Given the description of an element on the screen output the (x, y) to click on. 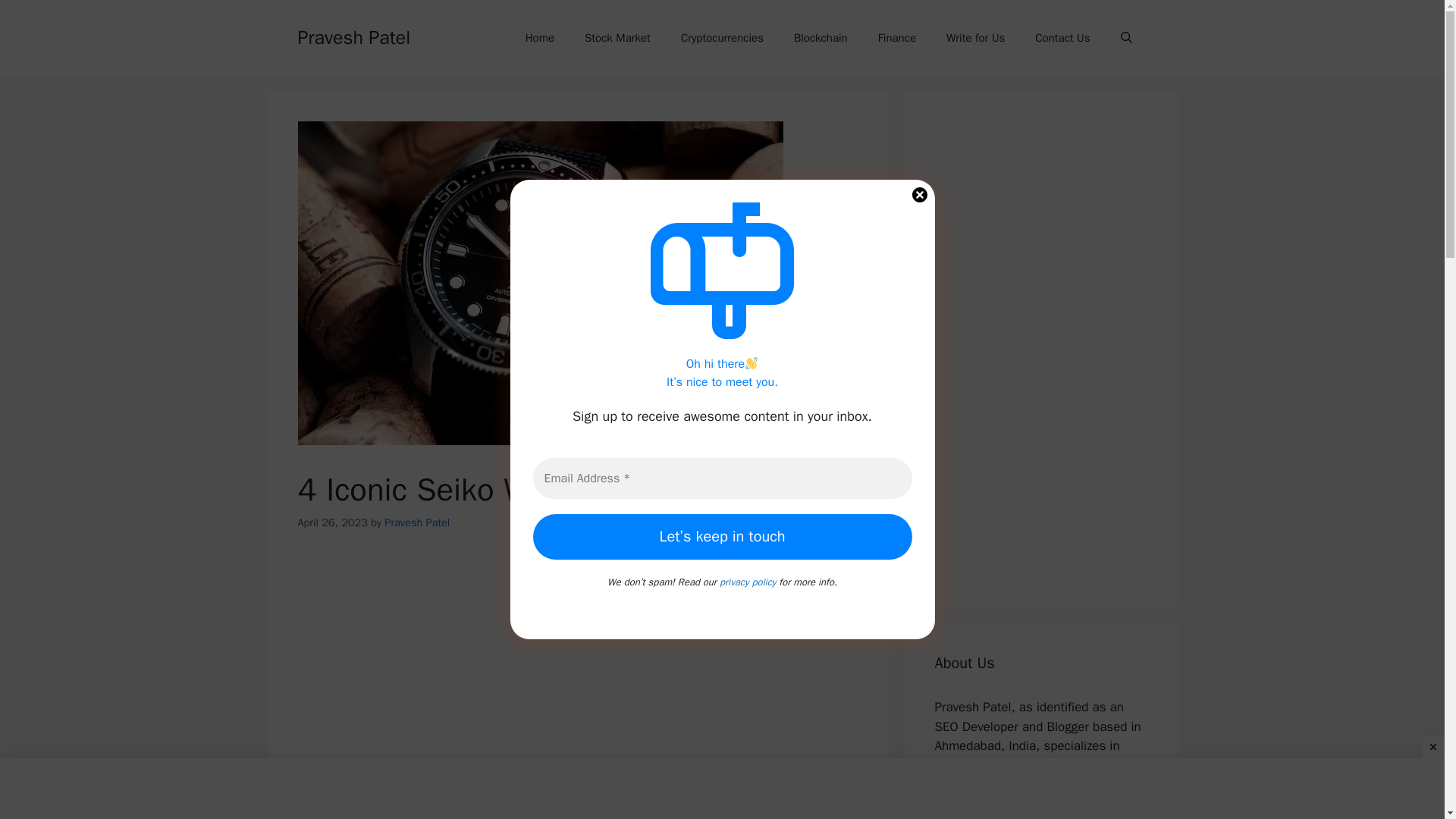
Contact Us (1062, 37)
Stock Market (617, 37)
Write for Us (975, 37)
Blockchain (820, 37)
Pravesh Patel (353, 37)
Pravesh Patel (416, 522)
Home (540, 37)
privacy policy (747, 581)
View all posts by Pravesh Patel (416, 522)
Email Address (721, 477)
Advertisement (578, 662)
Cryptocurrencies (721, 37)
Finance (897, 37)
